Given the description of an element on the screen output the (x, y) to click on. 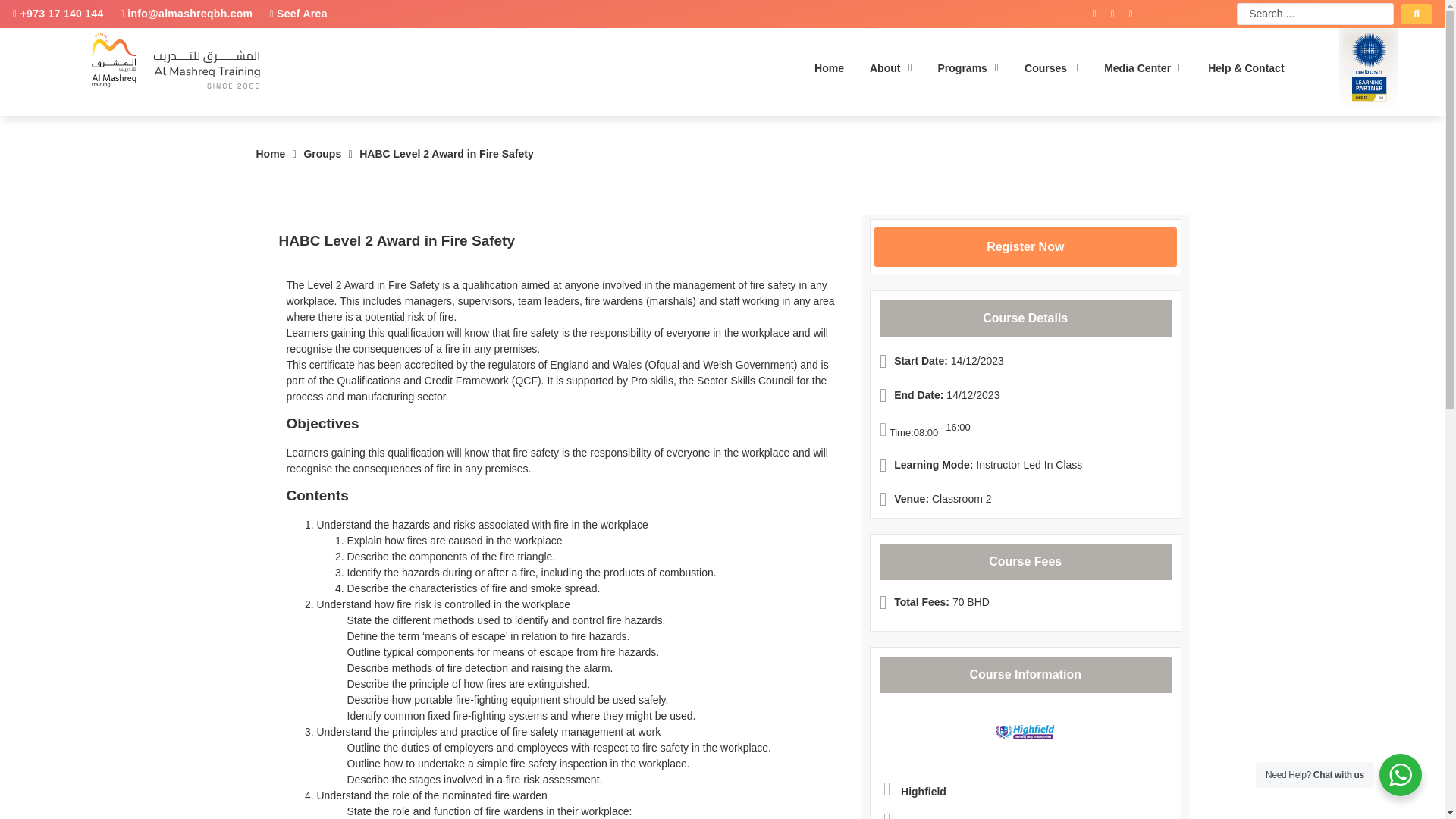
Register Now (1025, 246)
Programs (967, 67)
Home (829, 67)
Courses (1050, 67)
Home (270, 154)
Home (270, 154)
Seef Area (297, 13)
Groups (321, 154)
Media Center (1142, 67)
About (890, 67)
Highfield (923, 791)
Groups (321, 154)
